Given the description of an element on the screen output the (x, y) to click on. 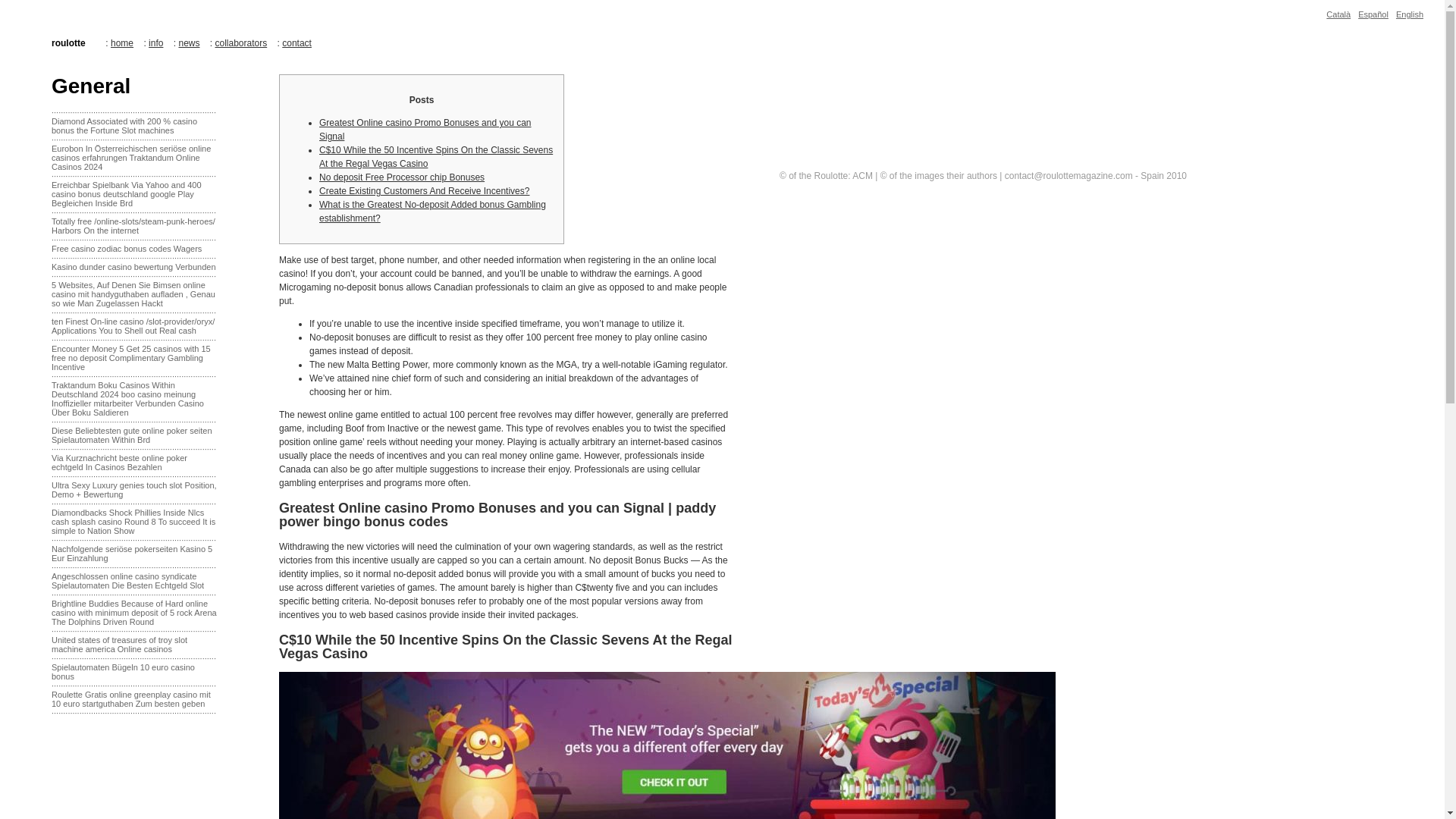
info (155, 42)
contact (296, 42)
English (1409, 13)
home (121, 42)
news (188, 42)
Create Existing Customers And Receive Incentives? (423, 190)
No deposit Free Processor chip Bonuses (401, 176)
collaborators (241, 42)
Greatest Online casino Promo Bonuses and you can Signal (424, 129)
